Given the description of an element on the screen output the (x, y) to click on. 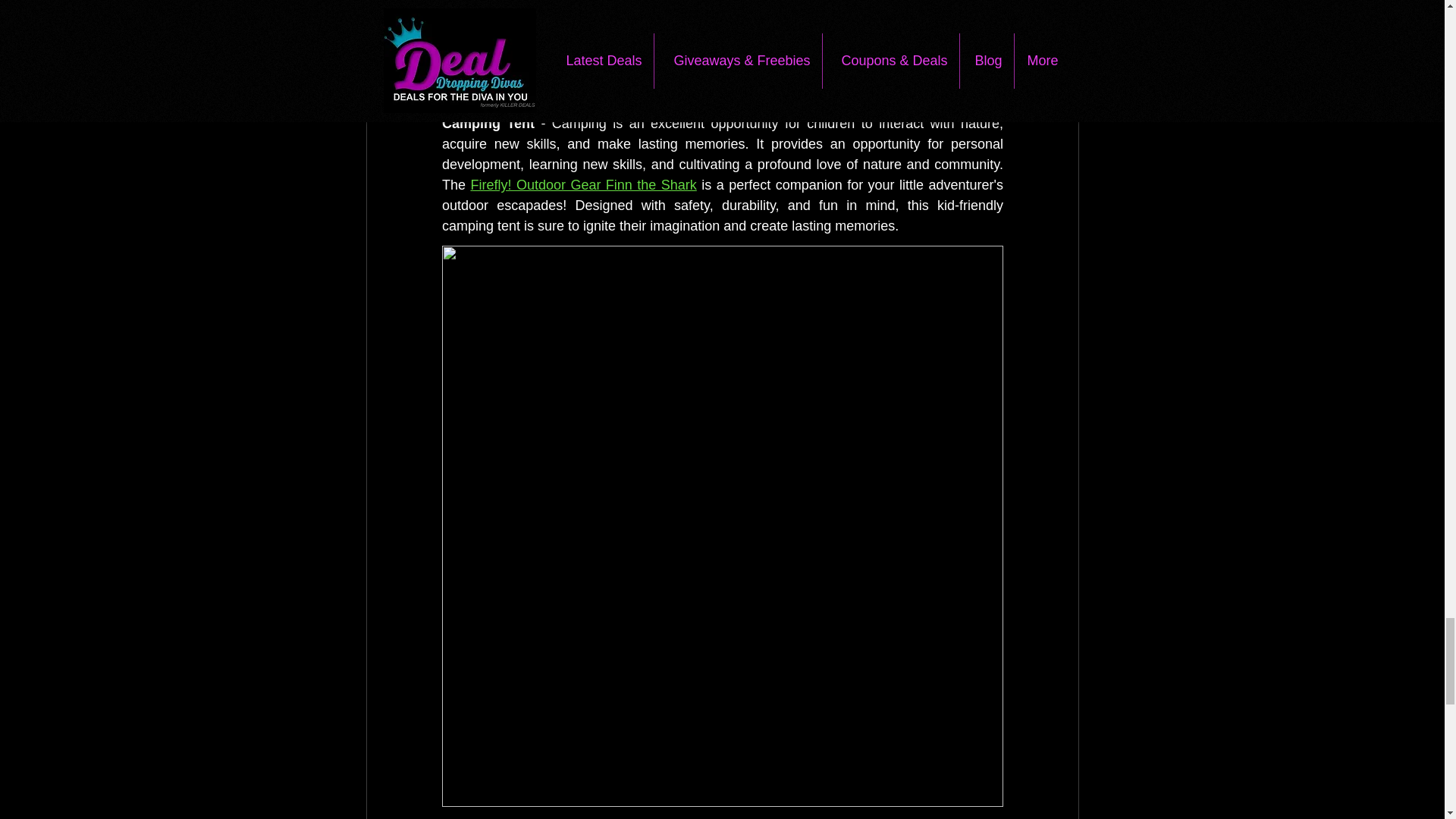
Firefly! Outdoor Gear Finn the Shark (582, 184)
